Given the description of an element on the screen output the (x, y) to click on. 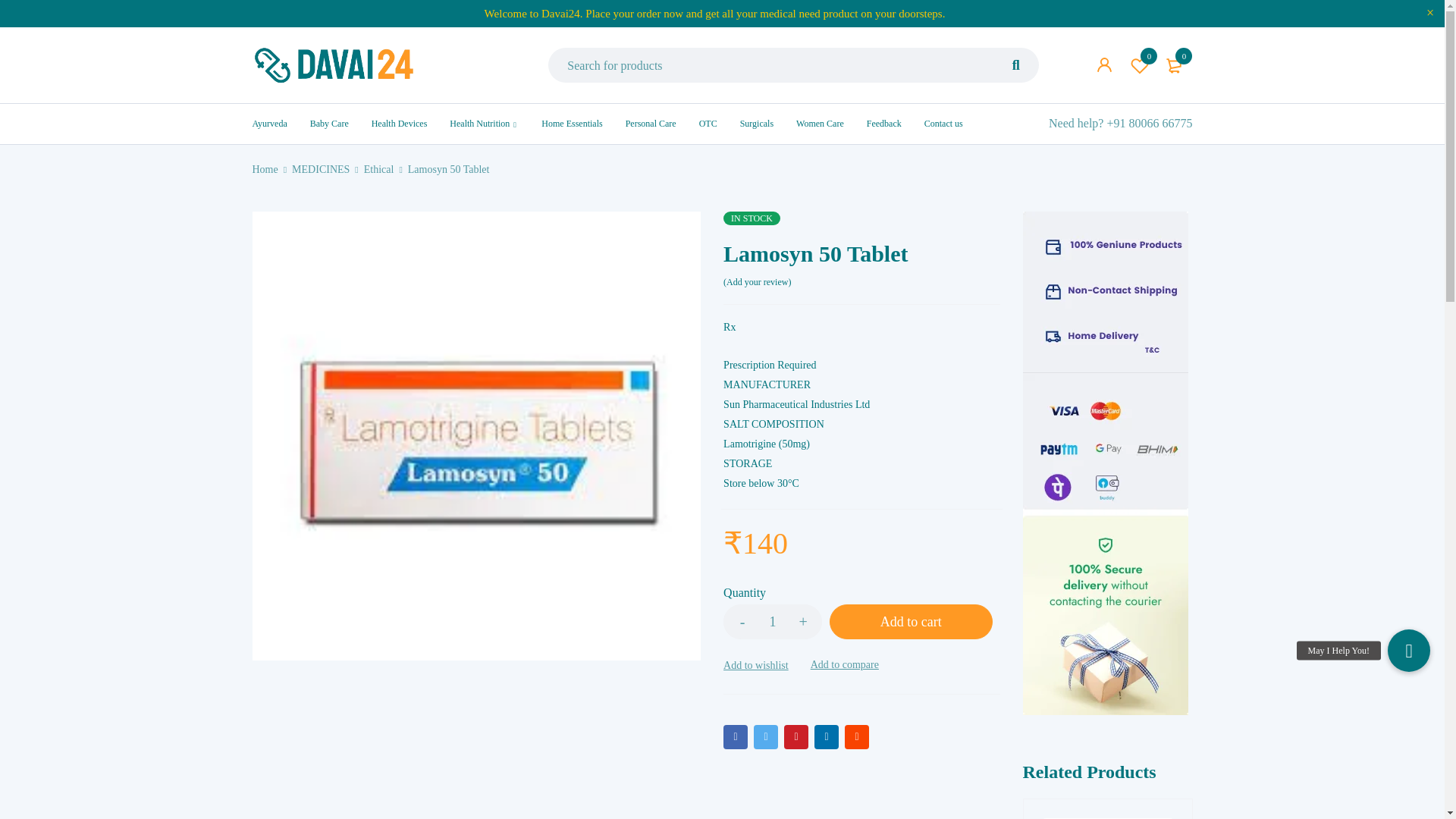
MyMedi (332, 65)
Search (1015, 99)
Home Essentials (571, 123)
Surgicals (756, 123)
Ayurveda (268, 123)
Feedback (883, 123)
MEDICINES (320, 169)
Baby Care (329, 123)
Health Nutrition (479, 123)
